Given the description of an element on the screen output the (x, y) to click on. 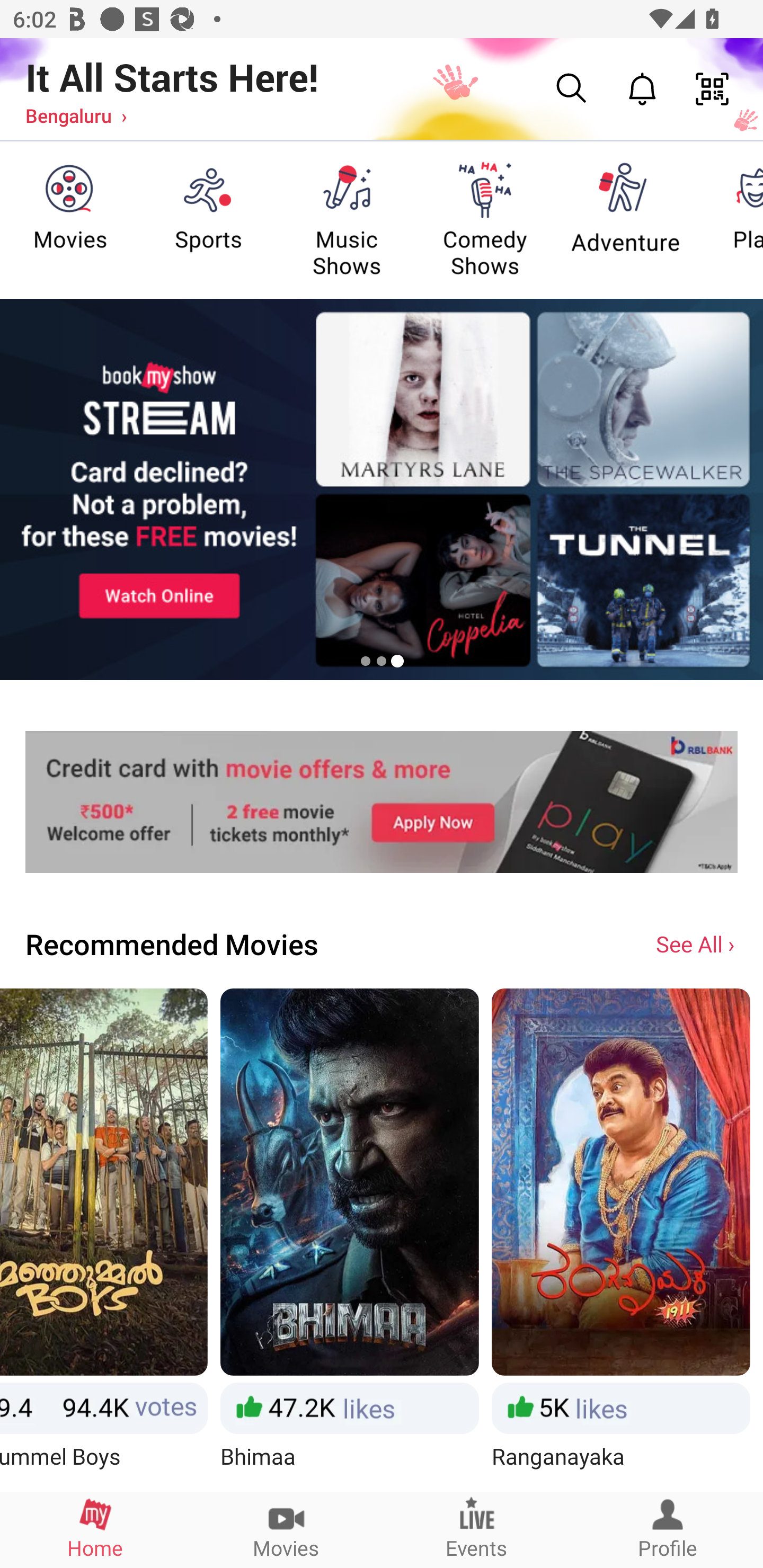
Bengaluru  › (76, 114)
See All › (696, 943)
Manjummel Boys (103, 1239)
Bhimaa (349, 1239)
Ranganayaka (620, 1239)
Home (95, 1529)
Movies (285, 1529)
Events (476, 1529)
Profile (667, 1529)
